Given the description of an element on the screen output the (x, y) to click on. 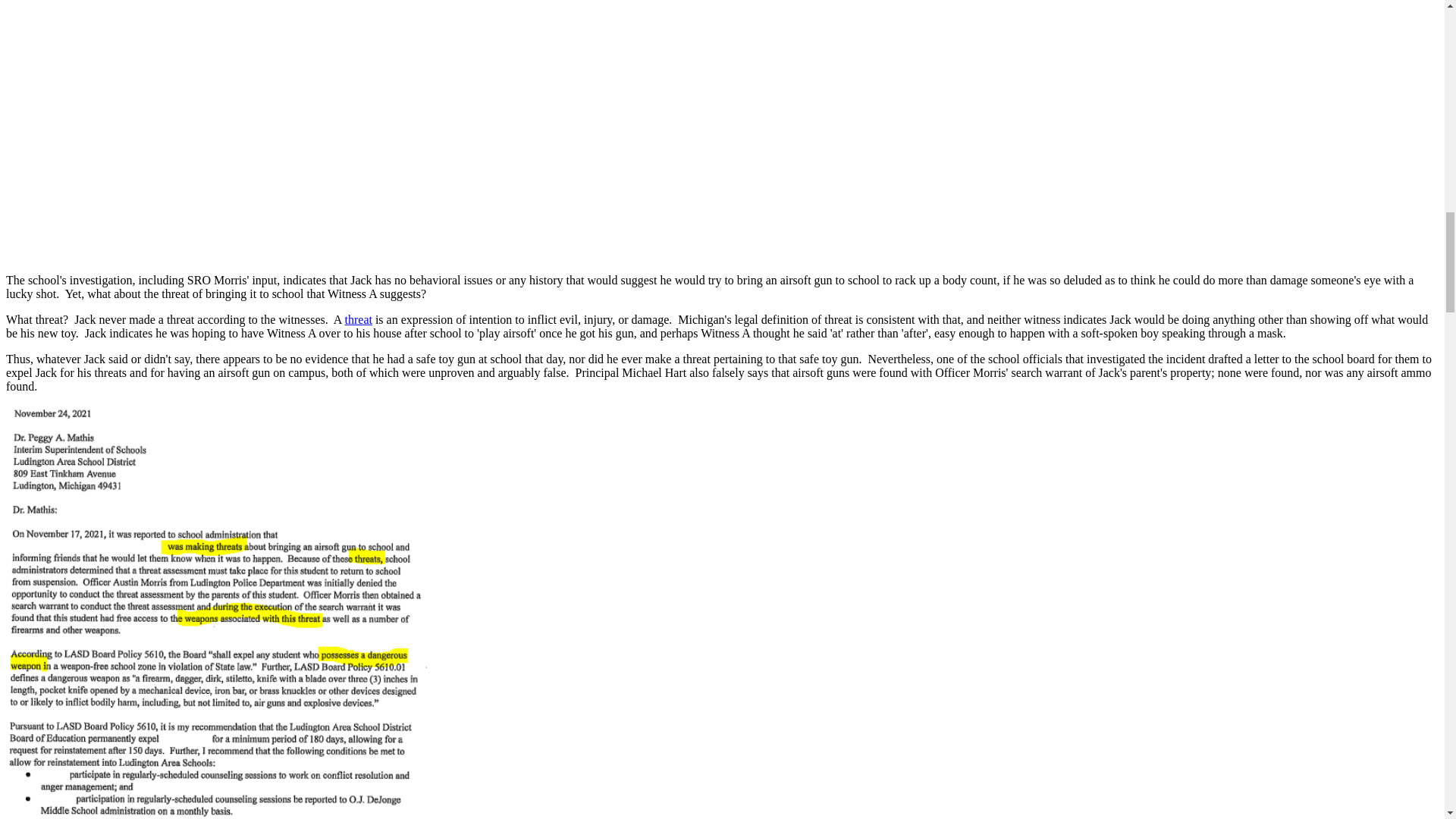
threat (357, 318)
